Given the description of an element on the screen output the (x, y) to click on. 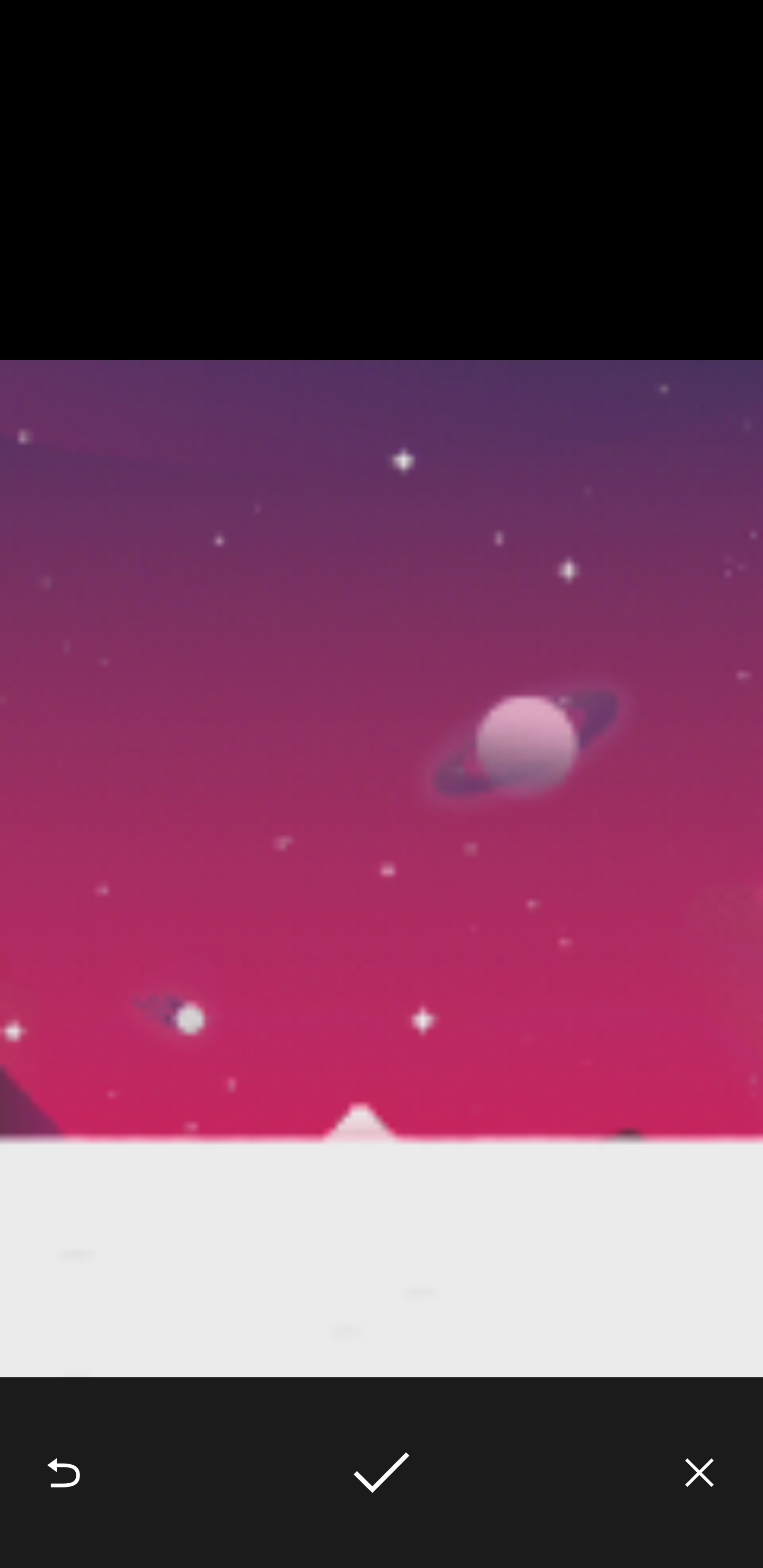
Done (381, 1472)
Retake (63, 1472)
Cancel (699, 1472)
